Given the description of an element on the screen output the (x, y) to click on. 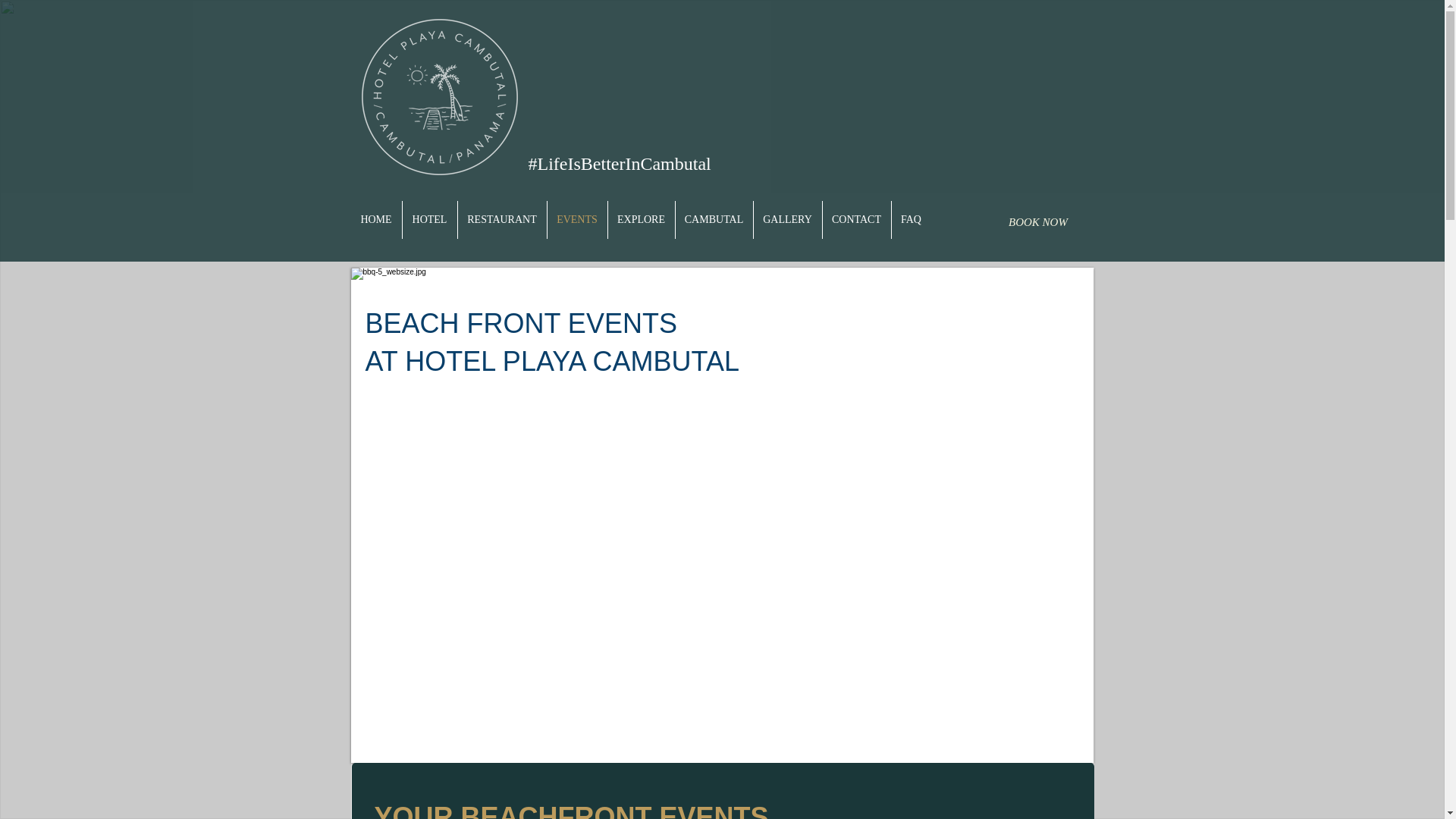
RESTAURANT (502, 219)
BOOK NOW (1038, 221)
FAQ (911, 219)
EXPLORE (641, 219)
EVENTS (577, 219)
CAMBUTAL (713, 219)
GALLERY (788, 219)
HOME (375, 219)
CONTACT (855, 219)
HOTEL (429, 219)
